Given the description of an element on the screen output the (x, y) to click on. 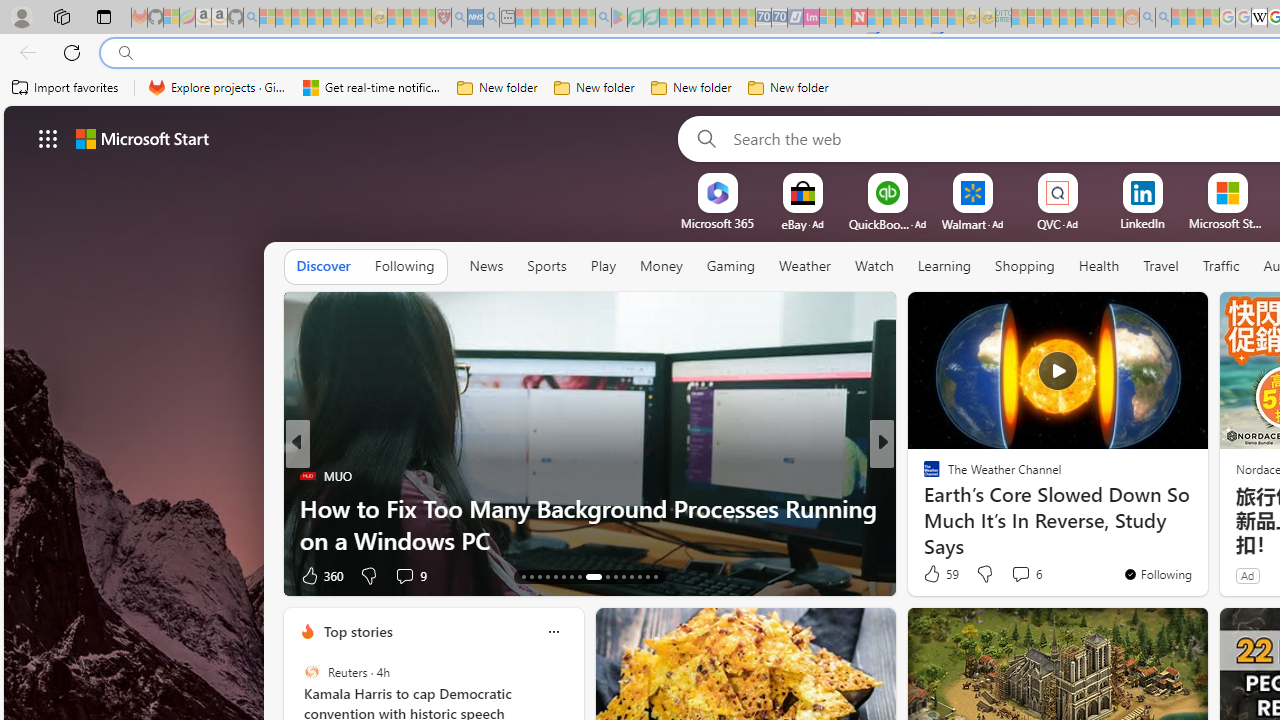
Gaming (730, 267)
AutomationID: tab-13 (522, 576)
Top stories (357, 631)
360 Like (320, 574)
The Spicy Chefs (923, 475)
35 Like (934, 574)
Rarest.org (923, 507)
152 Like (936, 574)
59 Like (939, 574)
Gaming (730, 265)
